Given the description of an element on the screen output the (x, y) to click on. 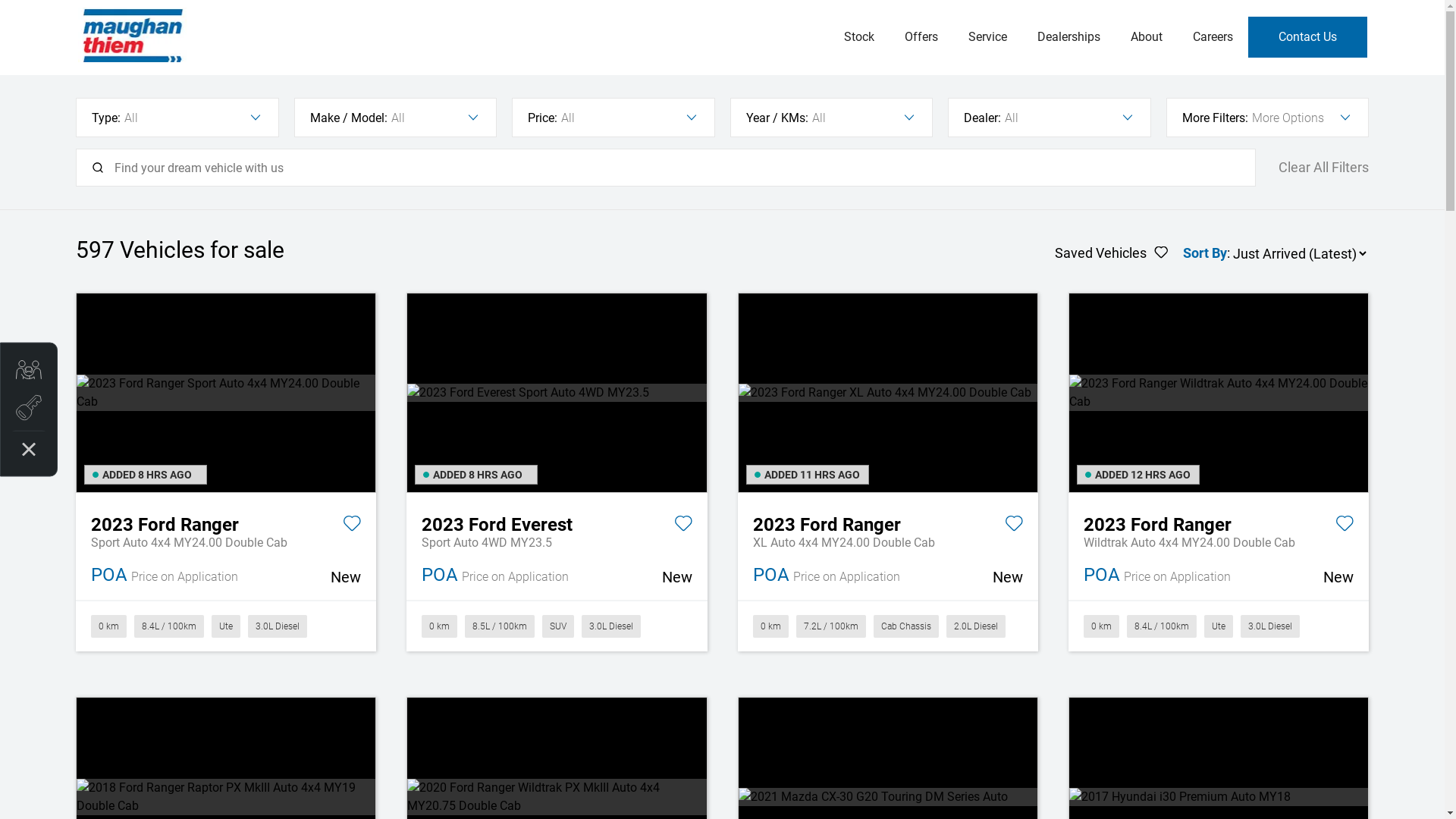
2023 Ford Everest Sport Auto 4WD MY23.5 Element type: hover (556, 392)
2018 Ford Ranger Raptor PX MkIII Auto 4x4 MY19 Double Cab Element type: hover (225, 796)
2023 Ford Ranger Sport Auto 4x4 MY24.00 Double Cab Element type: hover (225, 392)
2023 Ford Ranger Wildtrak Auto 4x4 MY24.00 Double Cab Element type: hover (1218, 392)
POA
Price on Application
New Element type: text (1218, 575)
2023 Ford Ranger
XL Auto 4x4 MY24.00 Double Cab Element type: text (887, 522)
2023 Ford Ranger
Wildtrak Auto 4x4 MY24.00 Double Cab Element type: text (1218, 522)
0 km
8.4L / 100km
Ute
3.0L Diesel Element type: text (225, 625)
Save Vehicle Element type: hover (1344, 525)
POA
Price on Application
New Element type: text (225, 575)
Stock Element type: text (858, 36)
0 km
8.4L / 100km
Ute
3.0L Diesel Element type: text (1218, 625)
Service Element type: text (986, 36)
Saved Vehicles Element type: text (1110, 253)
Careers Element type: text (1211, 36)
Dealerships Element type: text (1068, 36)
Offers Element type: text (920, 36)
POA
Price on Application
New Element type: text (556, 575)
Save Vehicle Element type: hover (682, 525)
2023 Ford Everest
Sport Auto 4WD MY23.5 Element type: text (556, 522)
Save Vehicle Element type: hover (1013, 525)
Clear All Filters Element type: text (1323, 167)
Save Vehicle Element type: hover (351, 525)
POA
Price on Application
New Element type: text (887, 575)
2021 Mazda CX-30 G20 Touring DM Series Auto Element type: hover (887, 796)
2023 Ford Ranger XL Auto 4x4 MY24.00 Double Cab Element type: hover (887, 392)
2017 Hyundai i30 Premium Auto MY18 Element type: hover (1218, 796)
0 km
7.2L / 100km
Cab Chassis
2.0L Diesel Element type: text (887, 625)
2023 Ford Ranger
Sport Auto 4x4 MY24.00 Double Cab Element type: text (225, 522)
About Element type: text (1145, 36)
Contact Us Element type: text (1307, 36)
0 km
8.5L / 100km
SUV
3.0L Diesel Element type: text (556, 625)
